Given the description of an element on the screen output the (x, y) to click on. 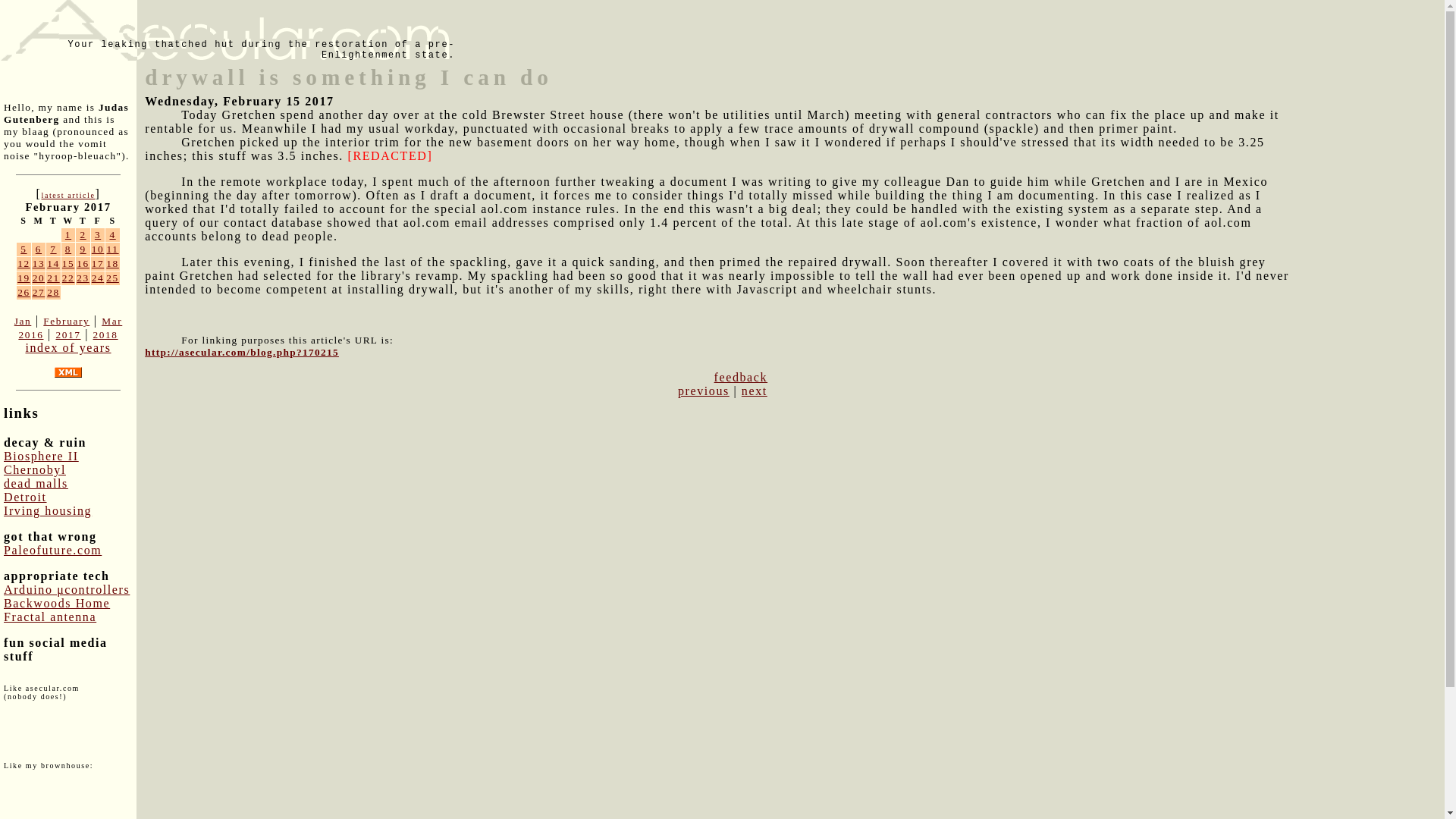
latest article (67, 194)
19 (23, 277)
20 (38, 277)
17 (97, 263)
21 (52, 277)
25 (112, 277)
14 (52, 263)
28 (52, 292)
index of years (67, 347)
12 (23, 263)
